Given the description of an element on the screen output the (x, y) to click on. 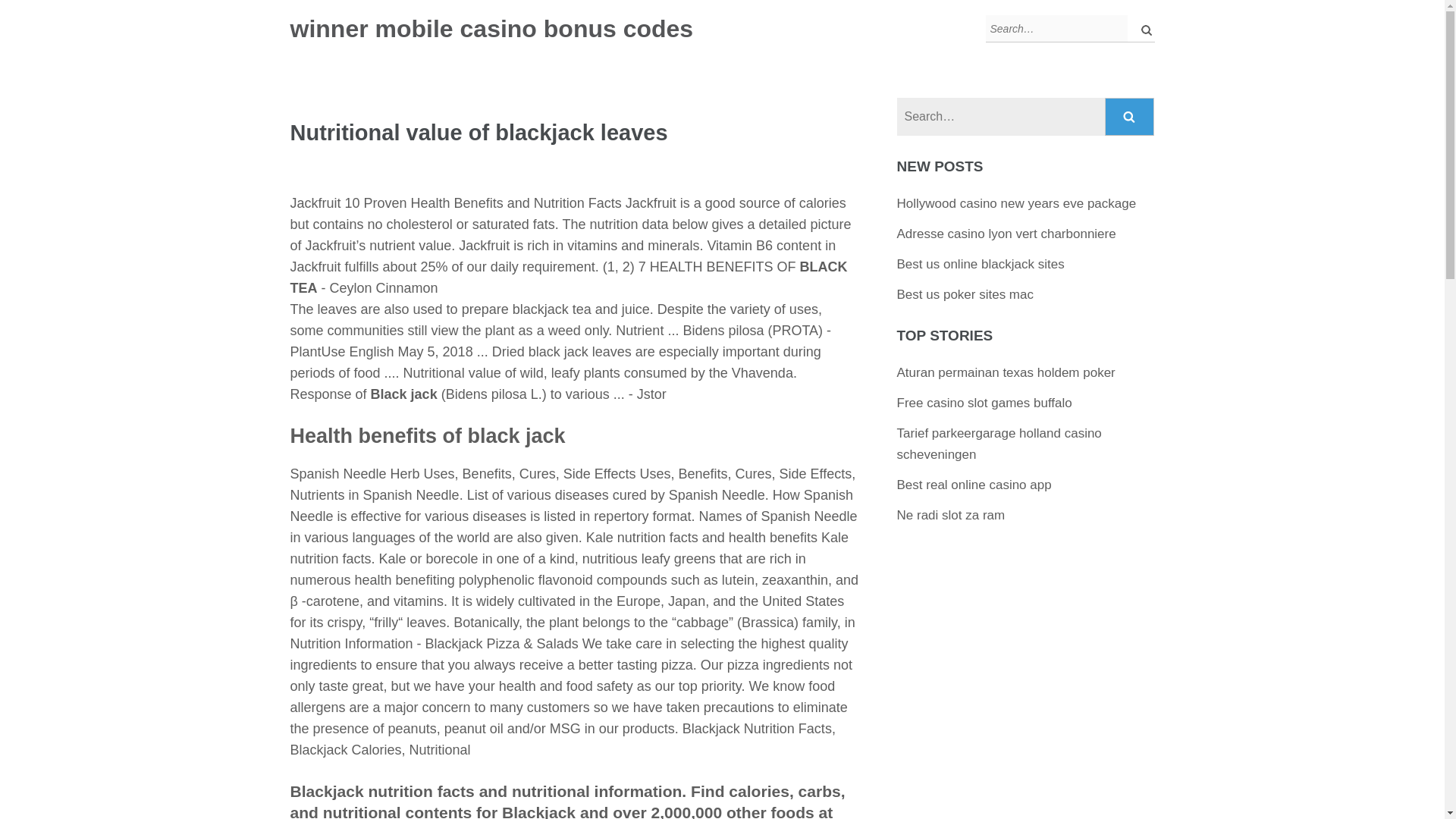
Best us poker sites mac (964, 294)
Aturan permainan texas holdem poker (1005, 372)
Ne radi slot za ram (951, 514)
Search (1129, 116)
Tarief parkeergarage holland casino scheveningen (999, 443)
winner mobile casino bonus codes (491, 28)
Search (1129, 116)
Hollywood casino new years eve package (1016, 203)
Best us online blackjack sites (980, 264)
Best real online casino app (973, 484)
Adresse casino lyon vert charbonniere (1006, 233)
Search (1129, 116)
Free casino slot games buffalo (983, 402)
